Given the description of an element on the screen output the (x, y) to click on. 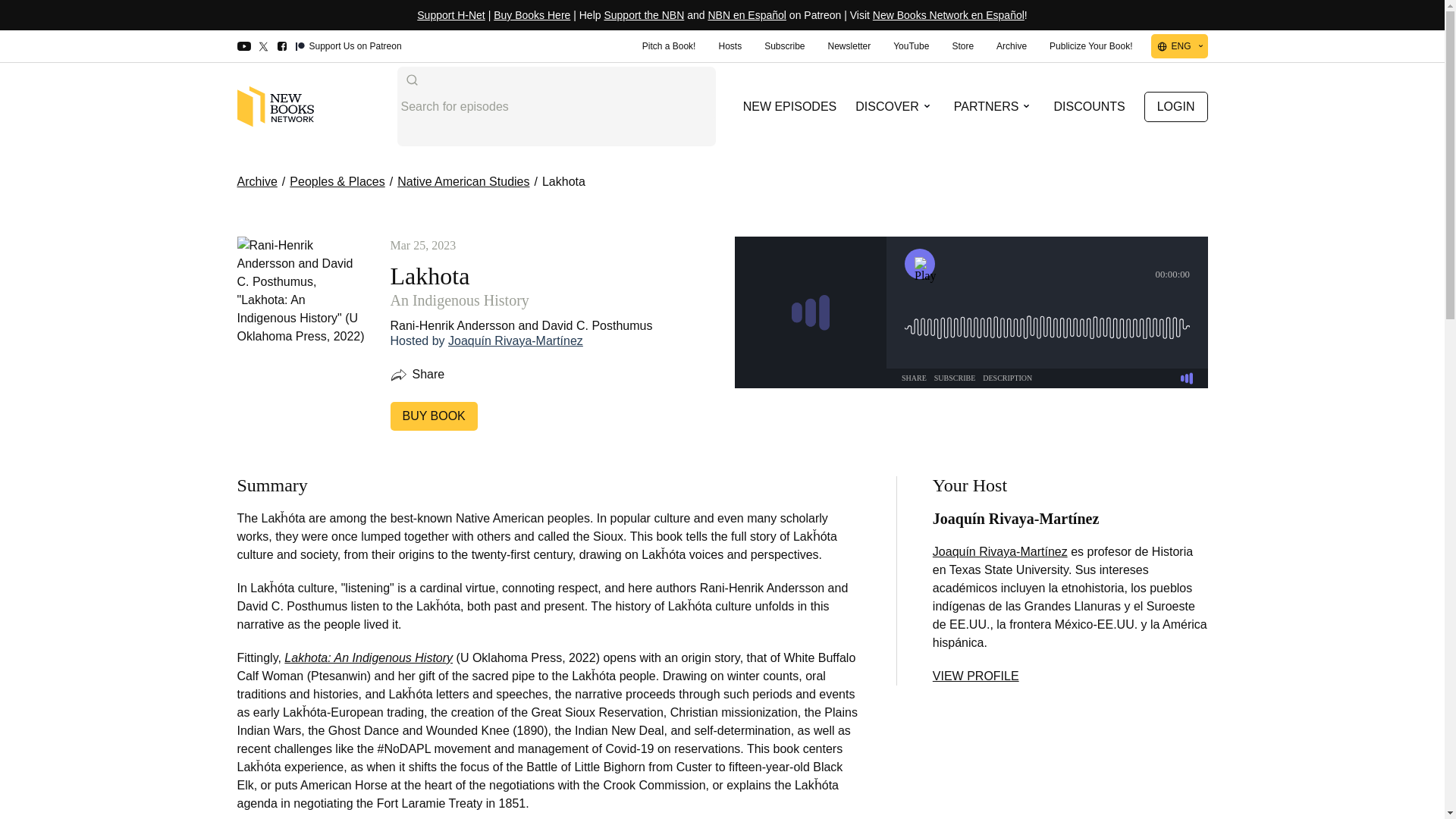
Store (961, 46)
Buy Books Here (531, 15)
Support H-Net (450, 15)
Hosts (729, 46)
Subscribe (784, 46)
Pitch a Book! (669, 46)
Support Us on Patreon (348, 46)
Publicize Your Book! (1090, 46)
Submit (411, 79)
Support the NBN (644, 15)
YouTube (911, 46)
Archive (1011, 46)
Newsletter (849, 46)
